Given the description of an element on the screen output the (x, y) to click on. 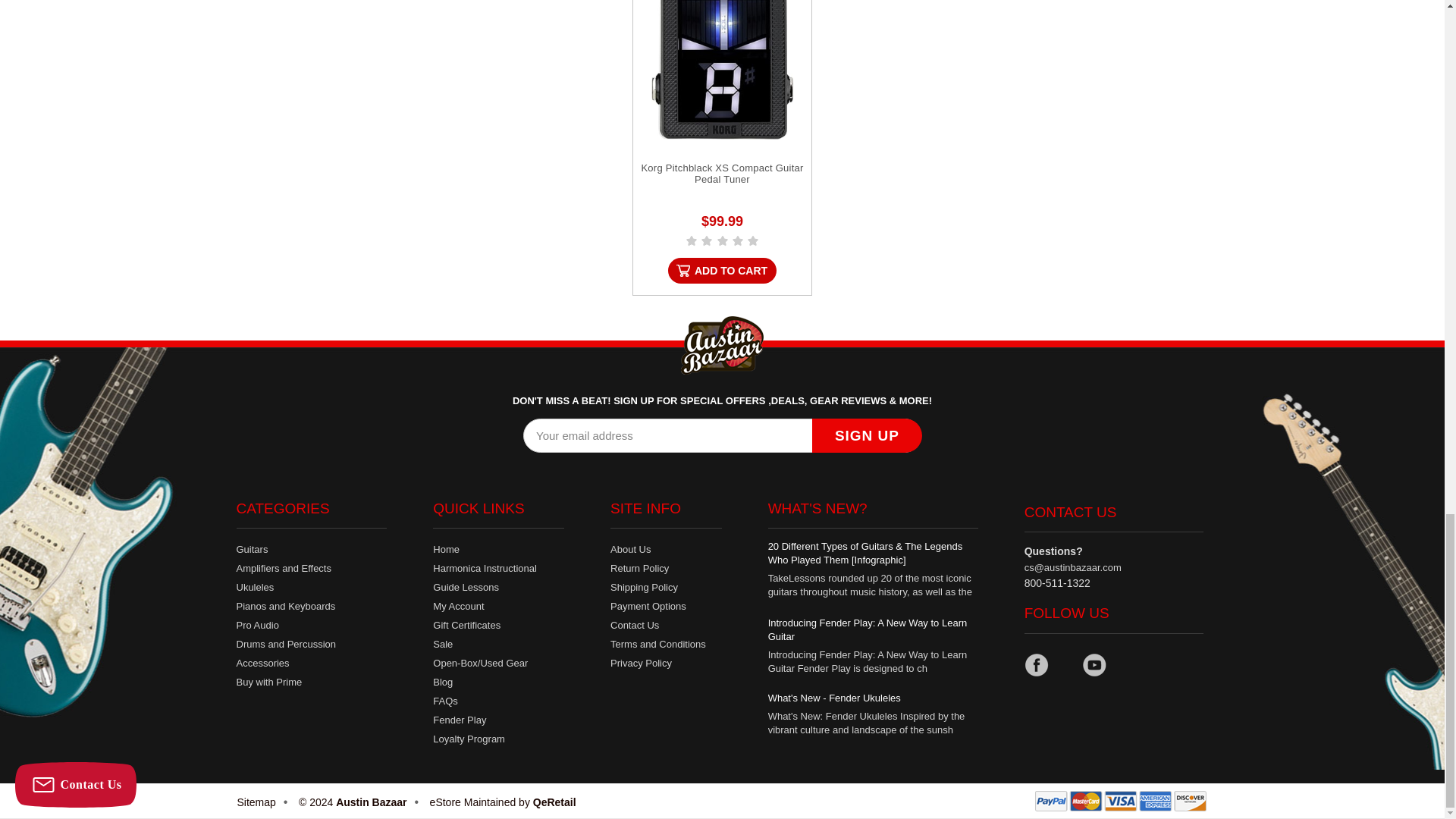
SIGN UP (866, 435)
Korg Pitchblack XS Compact Guitar Pedal Tuner (721, 69)
